Given the description of an element on the screen output the (x, y) to click on. 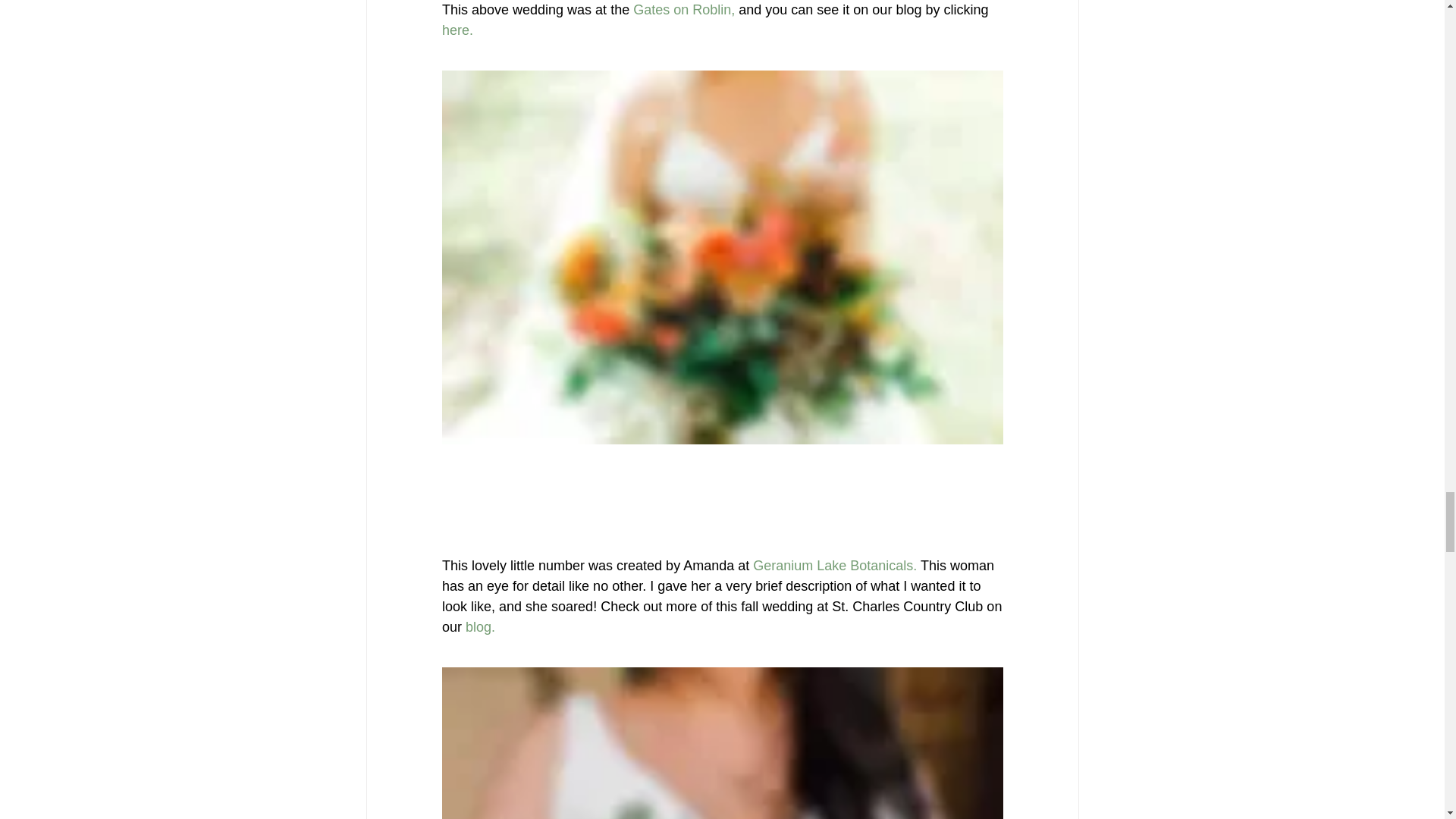
Gates on Roblin, (684, 8)
